Given the description of an element on the screen output the (x, y) to click on. 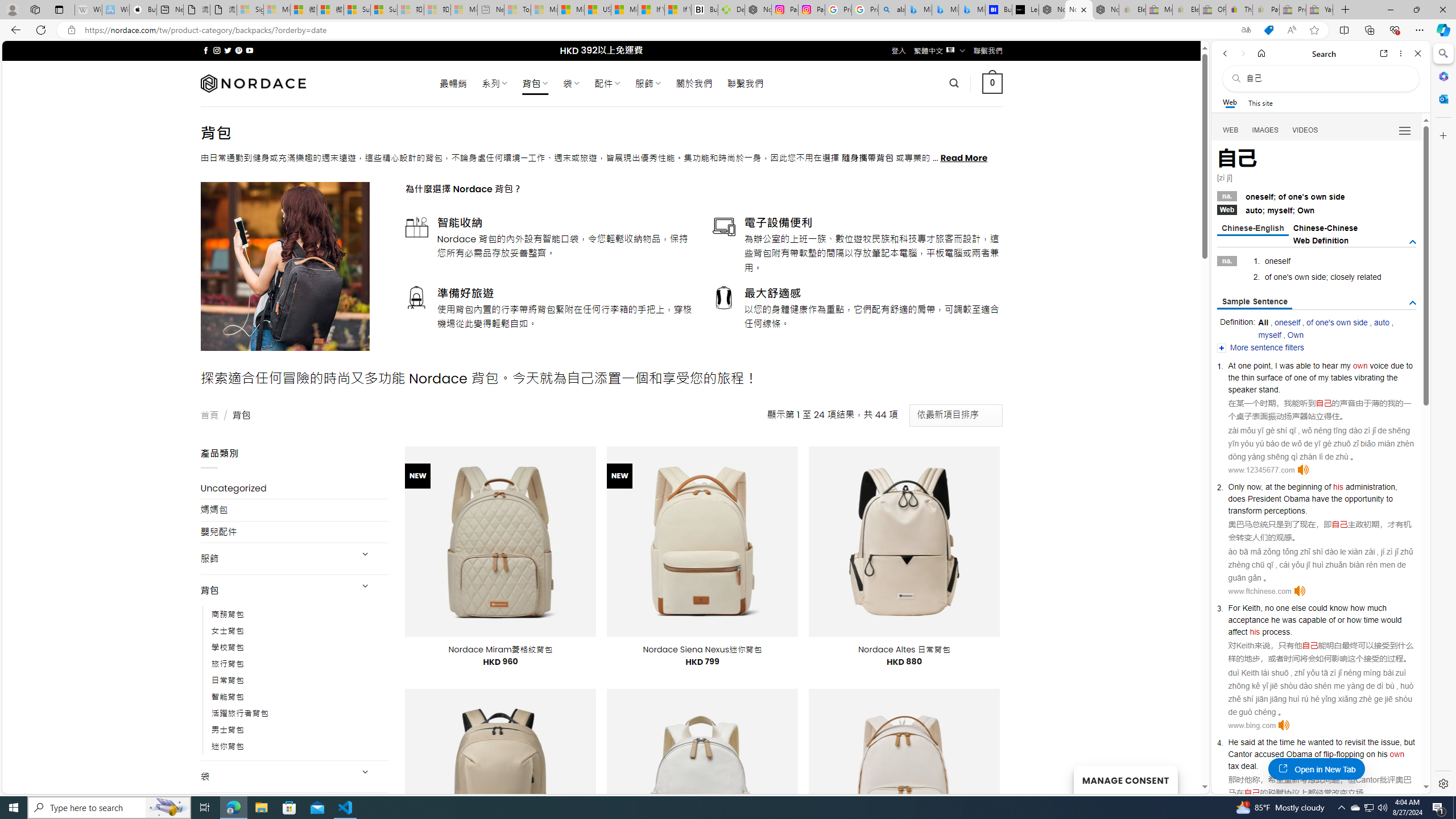
of (1317, 753)
Microsoft Bing Travel - Shangri-La Hotel Bangkok (971, 9)
Threats and offensive language policy | eBay (1239, 9)
Own (1295, 334)
